Given the description of an element on the screen output the (x, y) to click on. 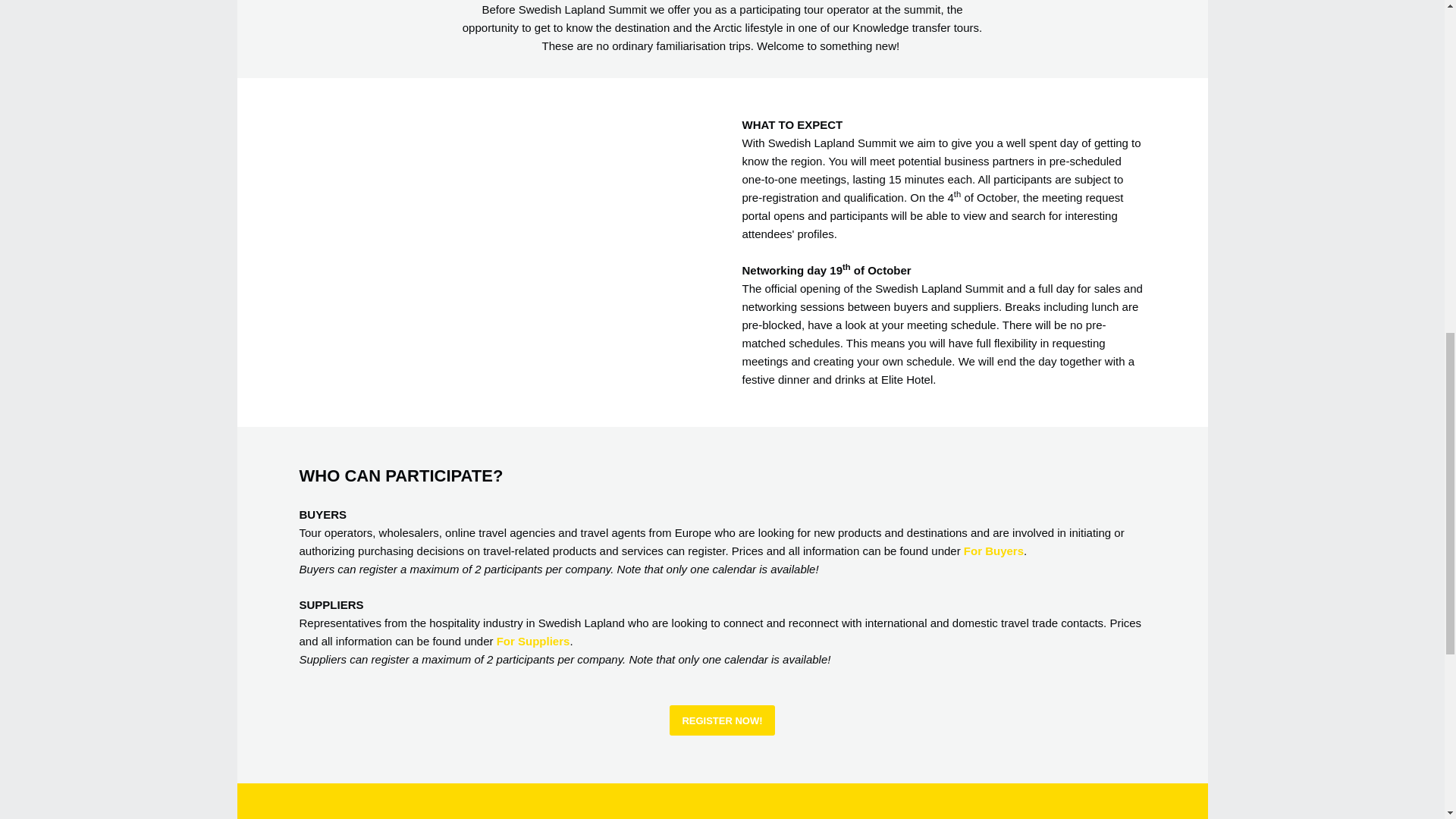
For Suppliers (533, 640)
For Buyers (993, 550)
REGISTER NOW! (721, 720)
